Given the description of an element on the screen output the (x, y) to click on. 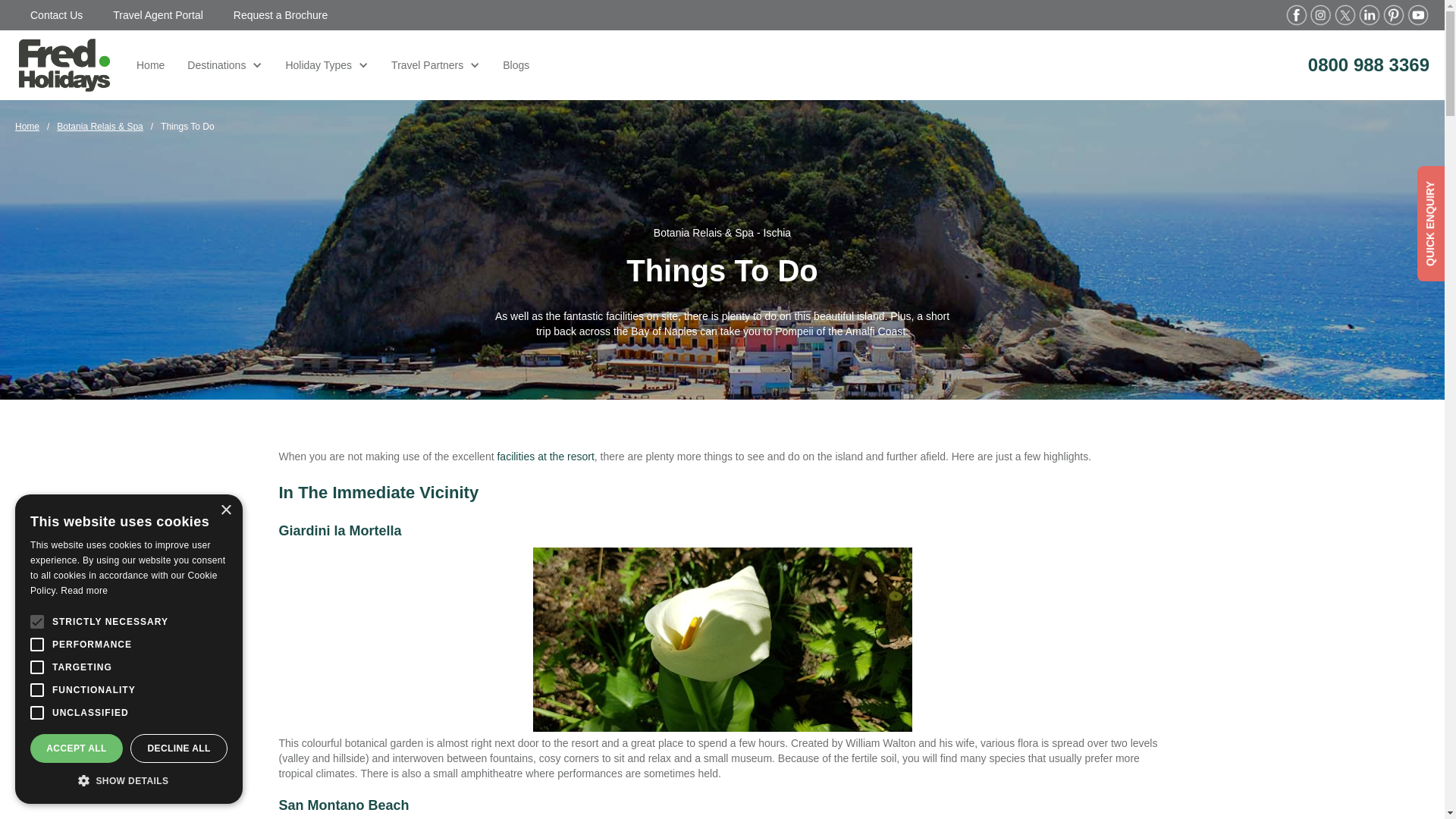
Travel Agent Portal (158, 14)
Contact Us (56, 14)
Request a Brochure (280, 14)
Home (150, 64)
